Given the description of an element on the screen output the (x, y) to click on. 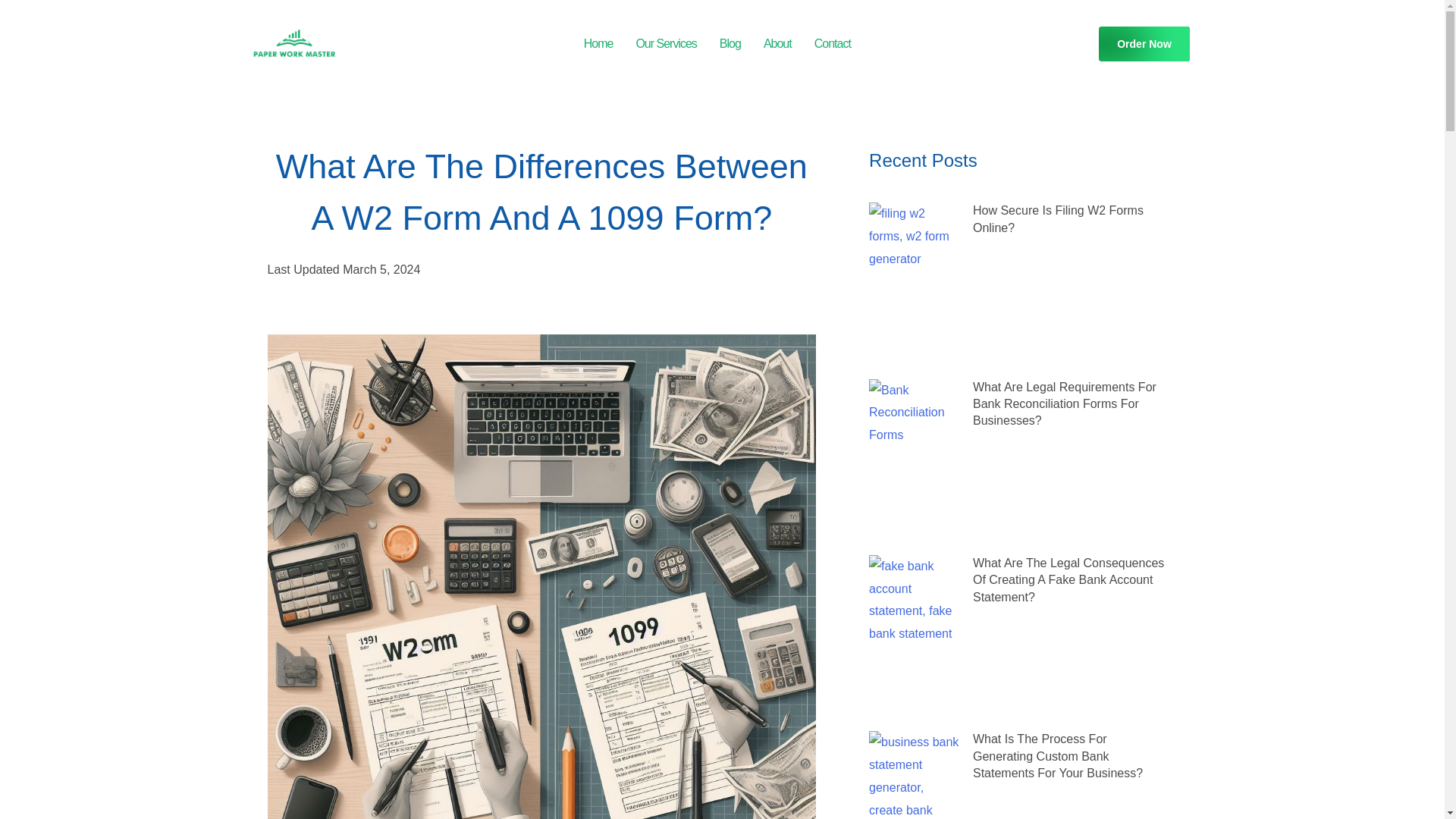
Blog (729, 43)
Our Services (665, 43)
Contact (832, 43)
About (777, 43)
Order Now (1144, 43)
Home (598, 43)
How Secure Is Filing W2 Forms Online? (1057, 218)
